Given the description of an element on the screen output the (x, y) to click on. 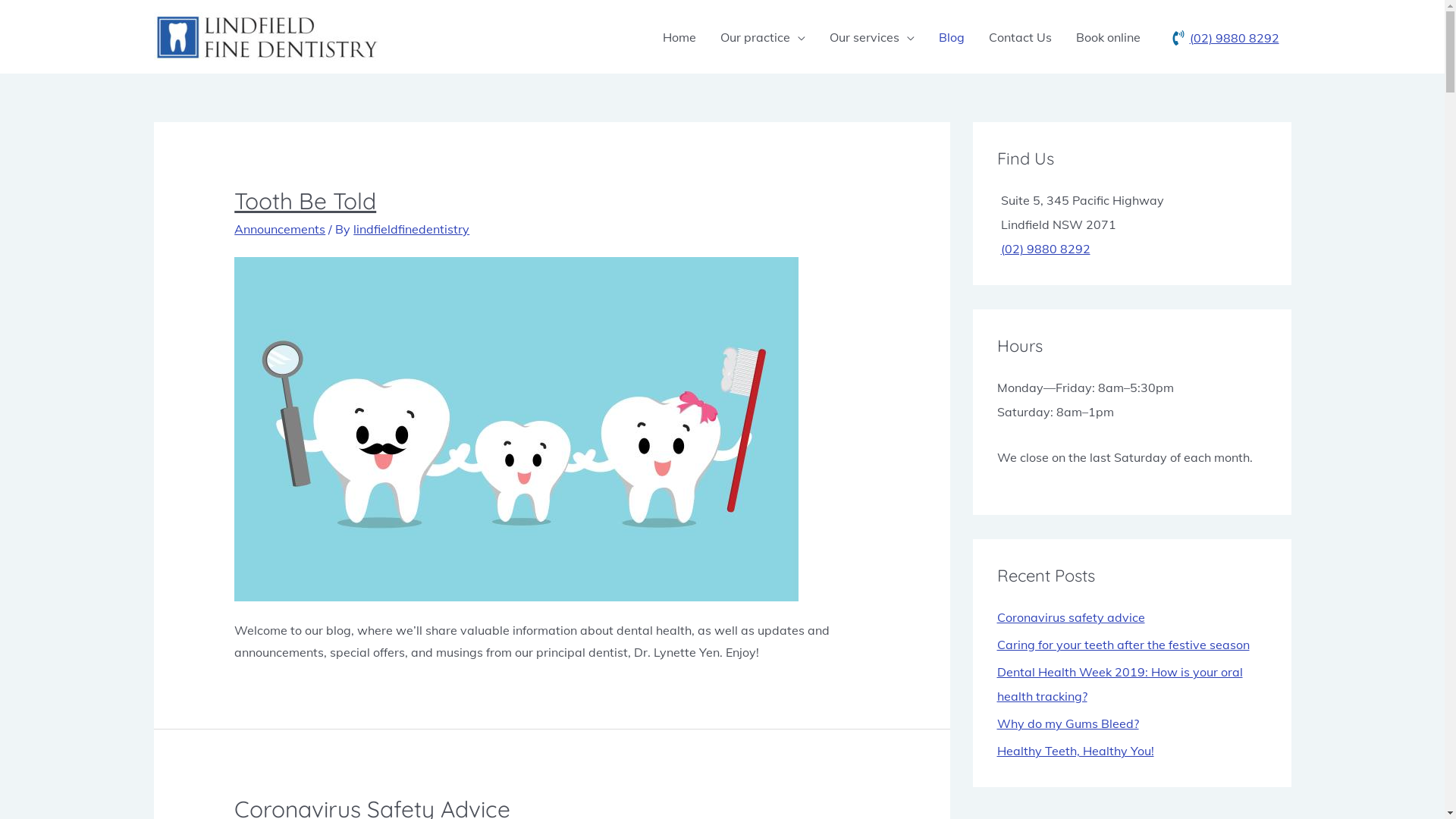
Book online Element type: text (1107, 36)
Coronavirus safety advice Element type: text (1070, 616)
Tooth Be Told Element type: text (305, 200)
Our services Element type: text (871, 36)
(02) 9880 8292 Element type: text (1045, 248)
Dental Health Week 2019: How is your oral health tracking? Element type: text (1119, 683)
Home Element type: text (679, 36)
Contact Us Element type: text (1019, 36)
Why do my Gums Bleed? Element type: text (1067, 723)
Blog Element type: text (951, 36)
Our practice Element type: text (762, 36)
Announcements Element type: text (279, 228)
Healthy Teeth, Healthy You! Element type: text (1074, 750)
Caring for your teeth after the festive season Element type: text (1122, 644)
(02) 9880 8292 Element type: text (1224, 37)
lindfieldfinedentistry Element type: text (411, 228)
